Given the description of an element on the screen output the (x, y) to click on. 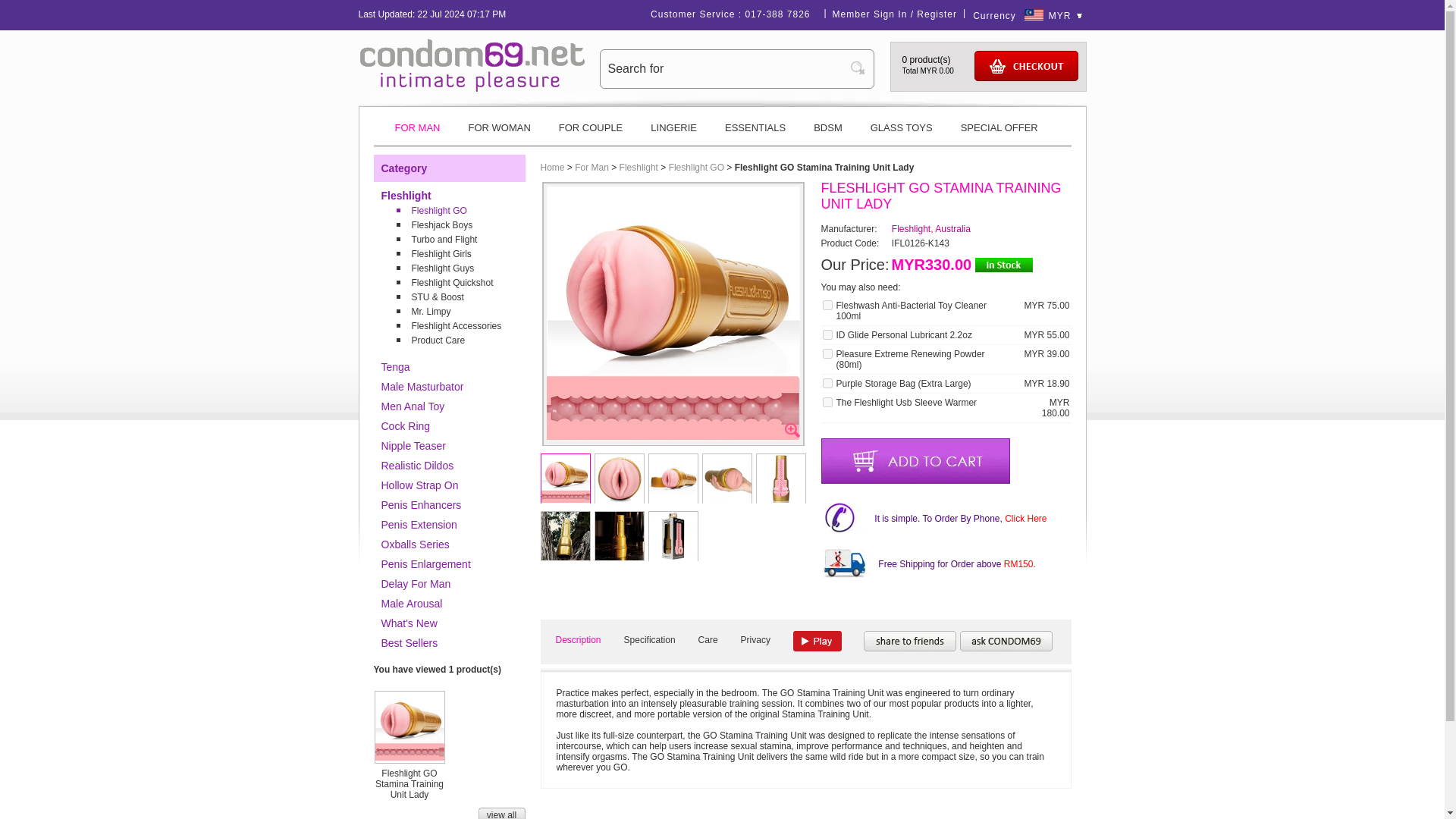
Sign In (890, 14)
FOR WOMAN (498, 133)
Search for (724, 68)
on (826, 353)
Sign In (890, 14)
Condom69 (471, 64)
on (826, 383)
FOR COUPLE (590, 133)
on (826, 334)
Search for (724, 68)
Cart (1025, 65)
FOR MAN (416, 133)
MYR (1065, 15)
Register (936, 14)
Condom69 (471, 88)
